Given the description of an element on the screen output the (x, y) to click on. 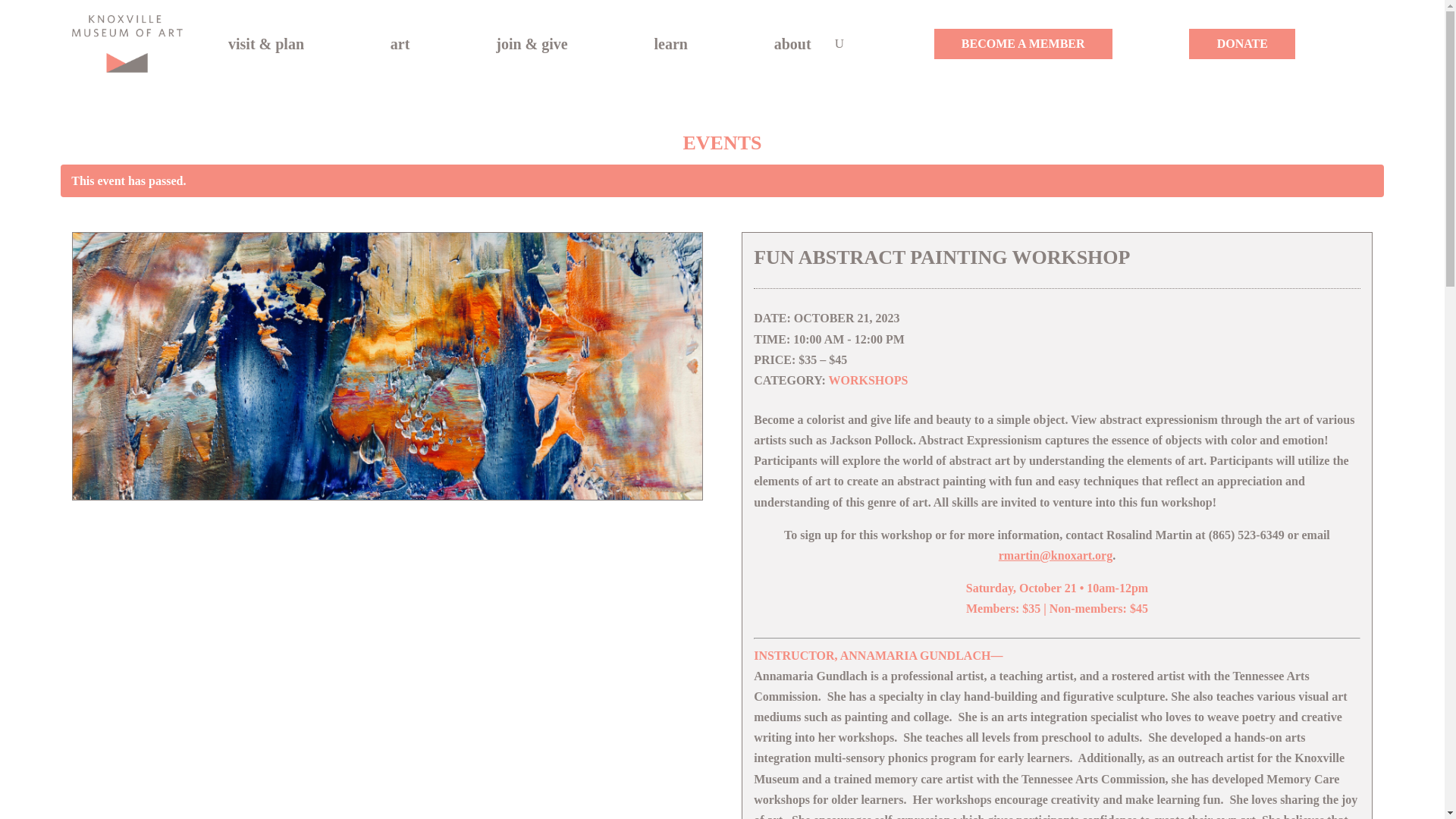
about (800, 43)
